Given the description of an element on the screen output the (x, y) to click on. 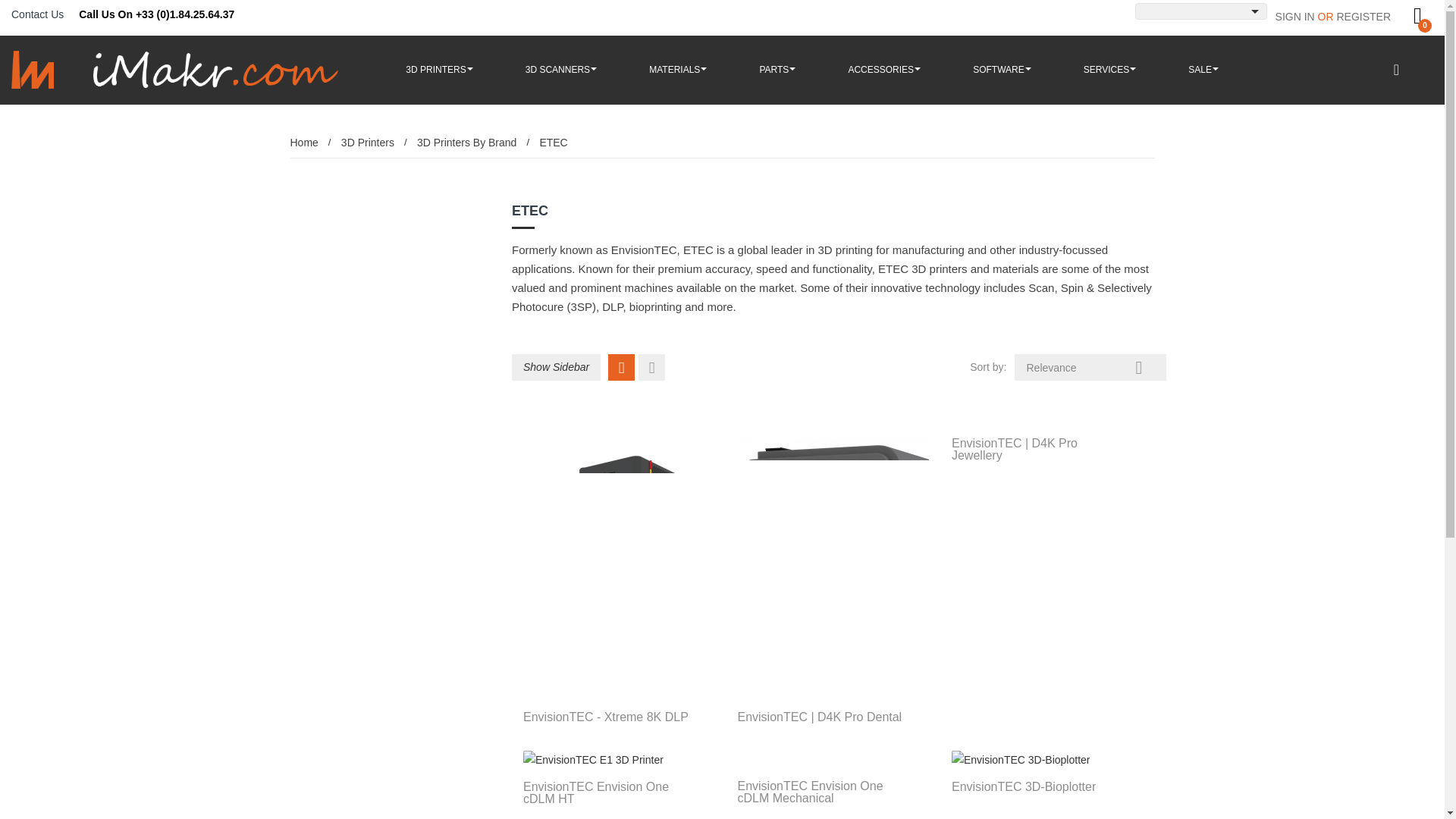
Grid (621, 366)
Contact Us (37, 14)
SIGN IN (1296, 16)
OR REGISTER (1353, 16)
List (652, 366)
Log in to your customer account (1296, 16)
3D PRINTERS (438, 70)
